Given the description of an element on the screen output the (x, y) to click on. 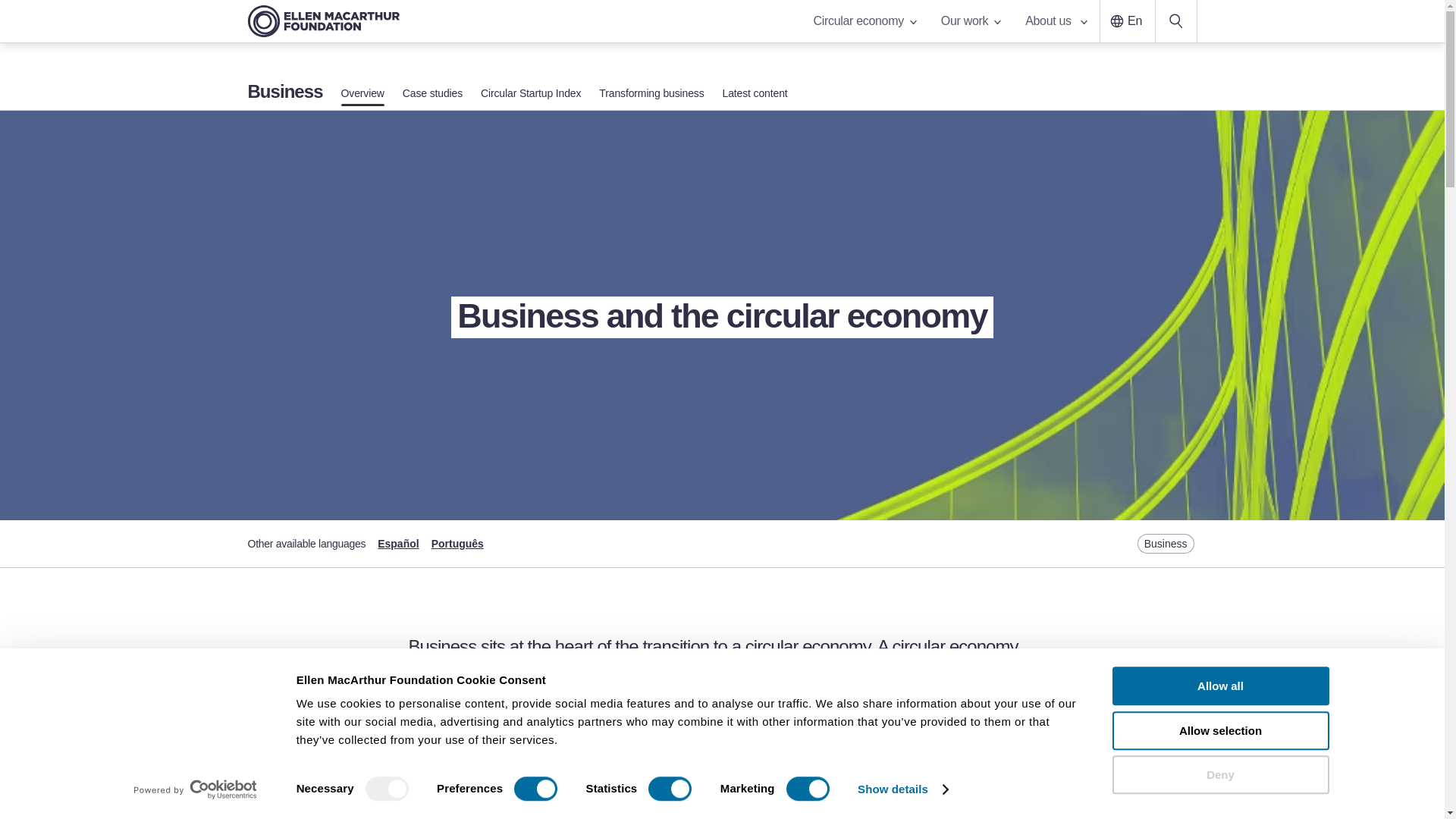
Show details (902, 789)
